Given the description of an element on the screen output the (x, y) to click on. 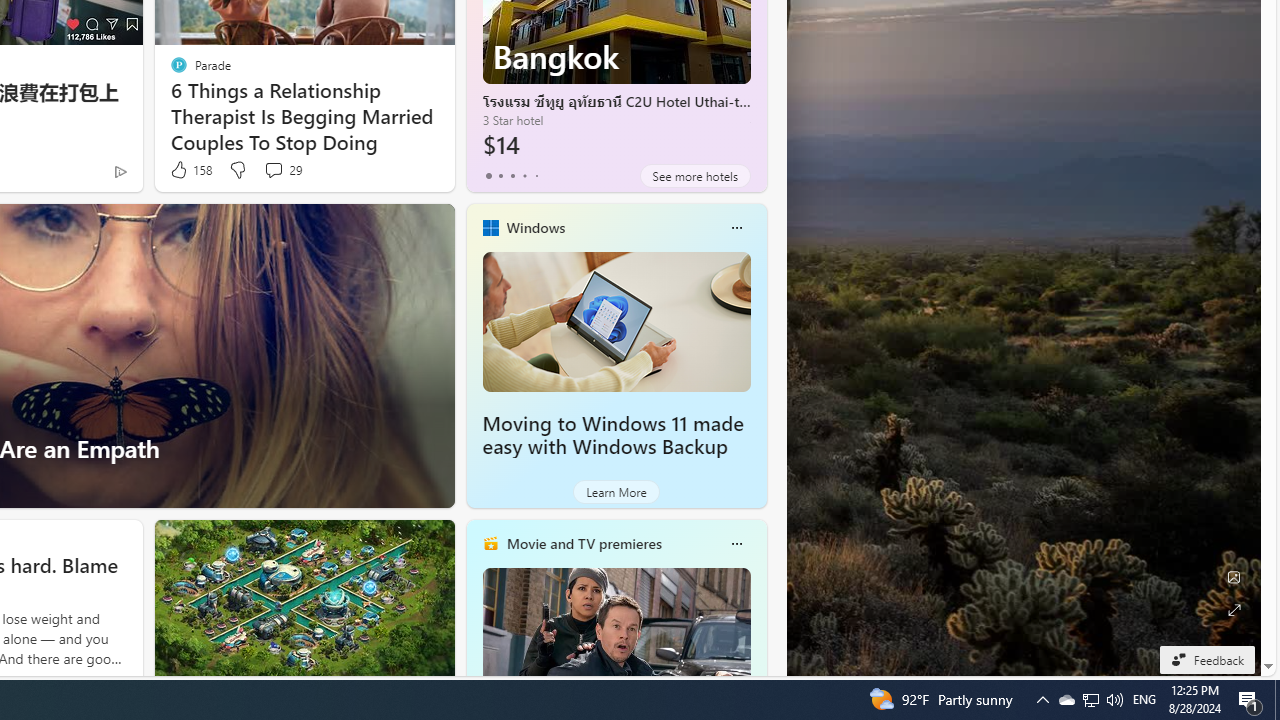
158 Like (190, 170)
Moving to Windows 11 made easy with Windows Backup (612, 435)
tab-3 (524, 175)
View comments 29 Comment (273, 169)
Learn More (616, 491)
Edit Background (1233, 577)
tab-2 (511, 175)
Windows (535, 227)
